Given the description of an element on the screen output the (x, y) to click on. 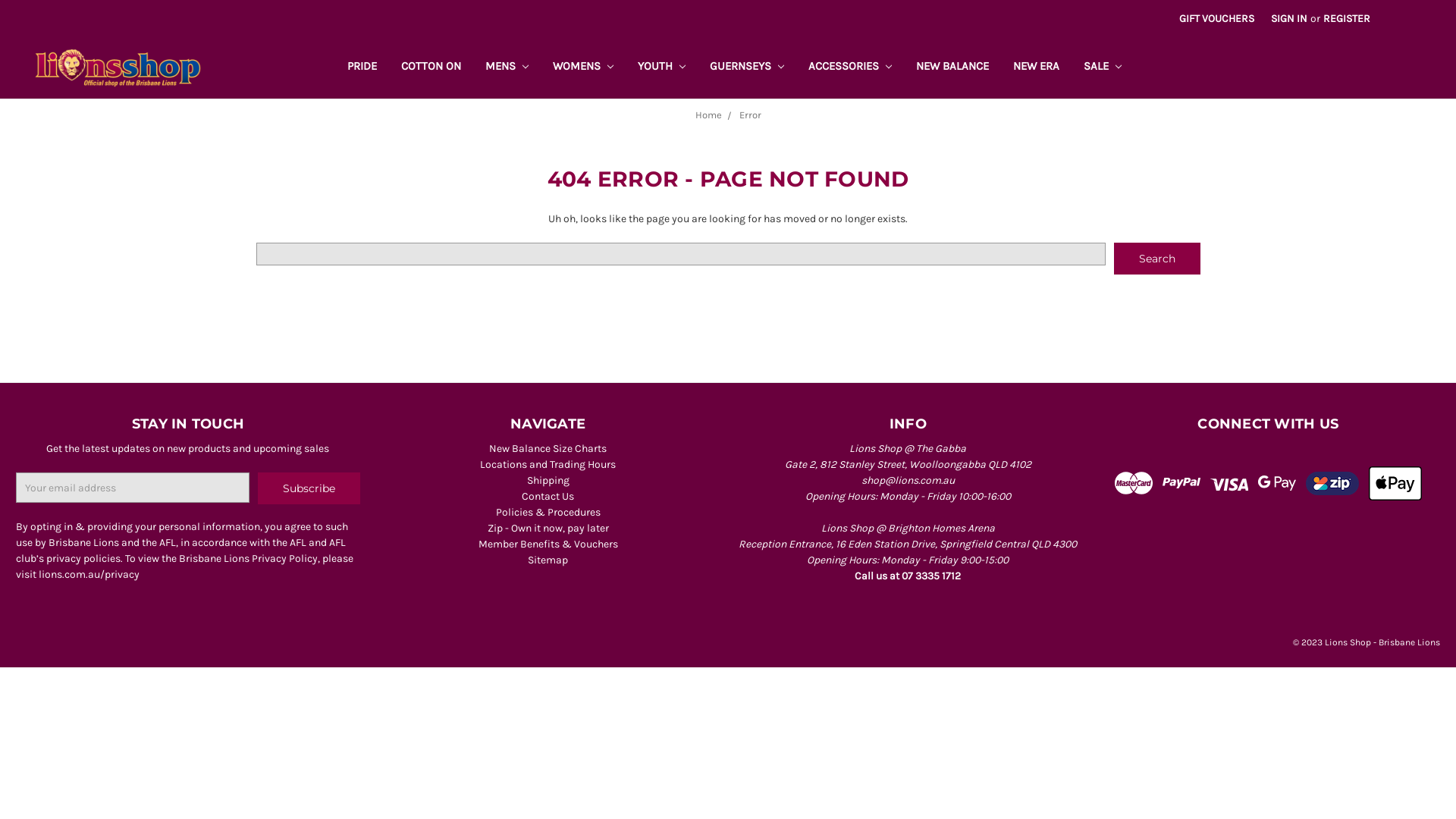
SIGN IN Element type: text (1288, 18)
WOMENS Element type: text (582, 67)
NEW ERA Element type: text (1036, 67)
Member Benefits & Vouchers Element type: text (548, 543)
YOUTH Element type: text (661, 67)
Search Element type: text (1156, 258)
Contact Us Element type: text (547, 495)
SALE Element type: text (1102, 67)
ACCESSORIES Element type: text (849, 67)
MENS Element type: text (506, 67)
Subscribe Element type: text (308, 488)
New Balance Size Charts Element type: text (547, 448)
COTTON ON Element type: text (431, 67)
Shipping Element type: text (548, 479)
Home Element type: text (707, 114)
REGISTER Element type: text (1346, 18)
Zip - Own it now, pay later Element type: text (547, 527)
Policies & Procedures Element type: text (547, 511)
PRIDE Element type: text (362, 67)
GUERNSEYS Element type: text (746, 67)
Locations and Trading Hours Element type: text (547, 464)
Wishlist Element type: hover (1414, 10)
Lions Shop - Brisbane Lions Element type: hover (117, 67)
Sitemap Element type: text (547, 559)
GIFT VOUCHERS Element type: text (1216, 18)
NEW BALANCE Element type: text (952, 67)
